Given the description of an element on the screen output the (x, y) to click on. 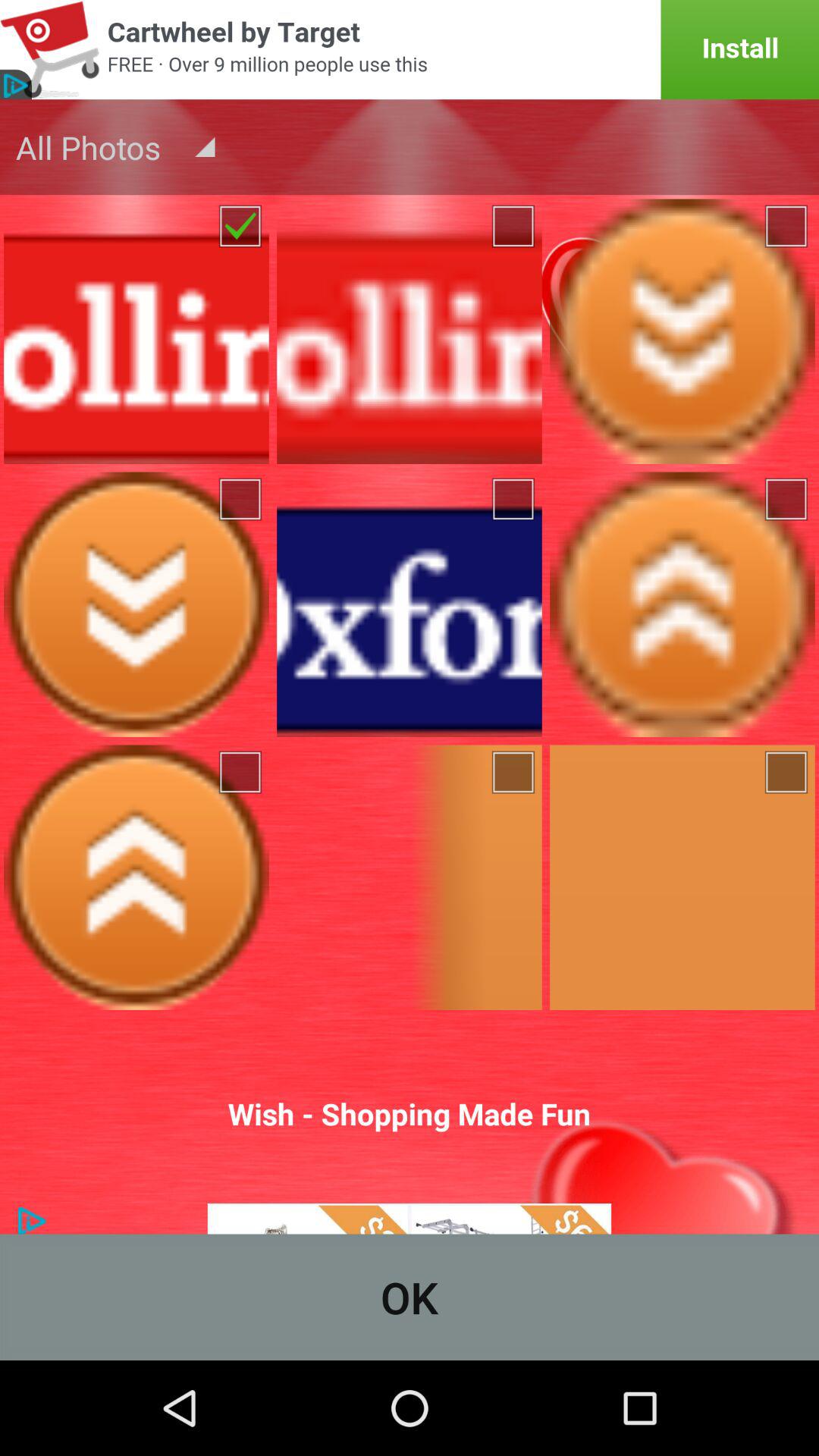
click on advertisements (409, 1218)
